Given the description of an element on the screen output the (x, y) to click on. 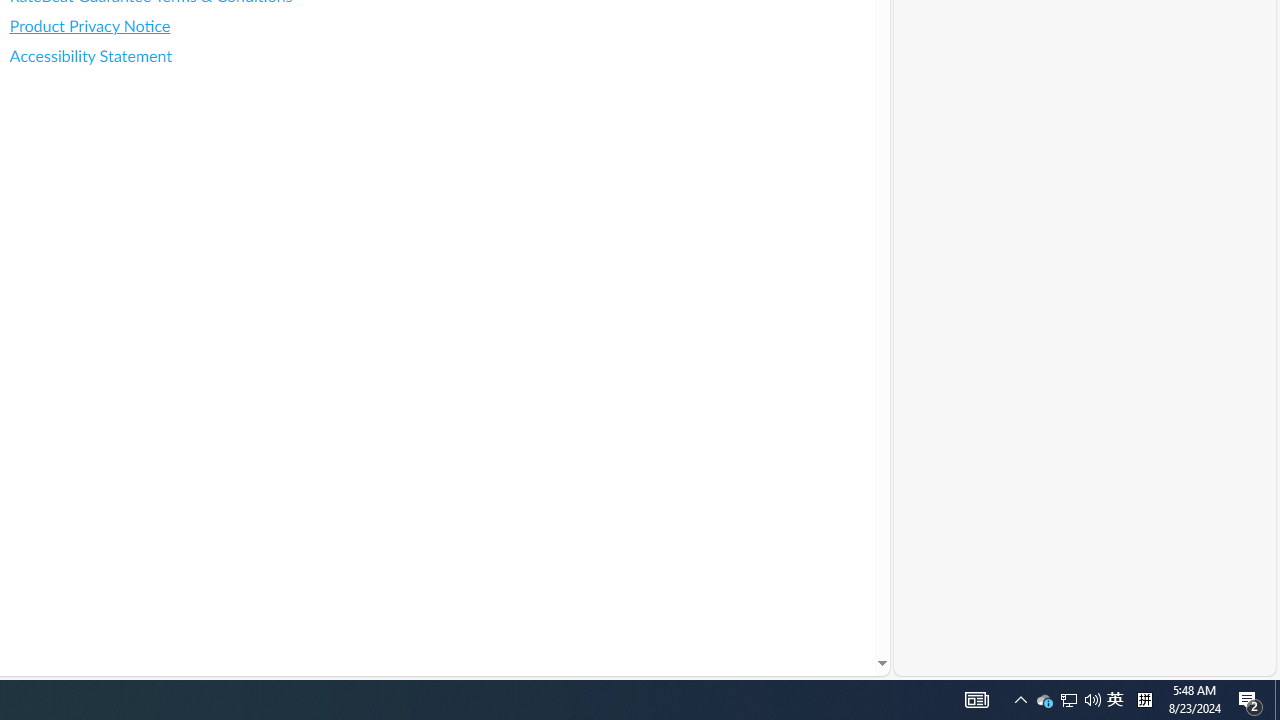
Accessibility Statement (188, 56)
Product Privacy Notice (188, 25)
